Given the description of an element on the screen output the (x, y) to click on. 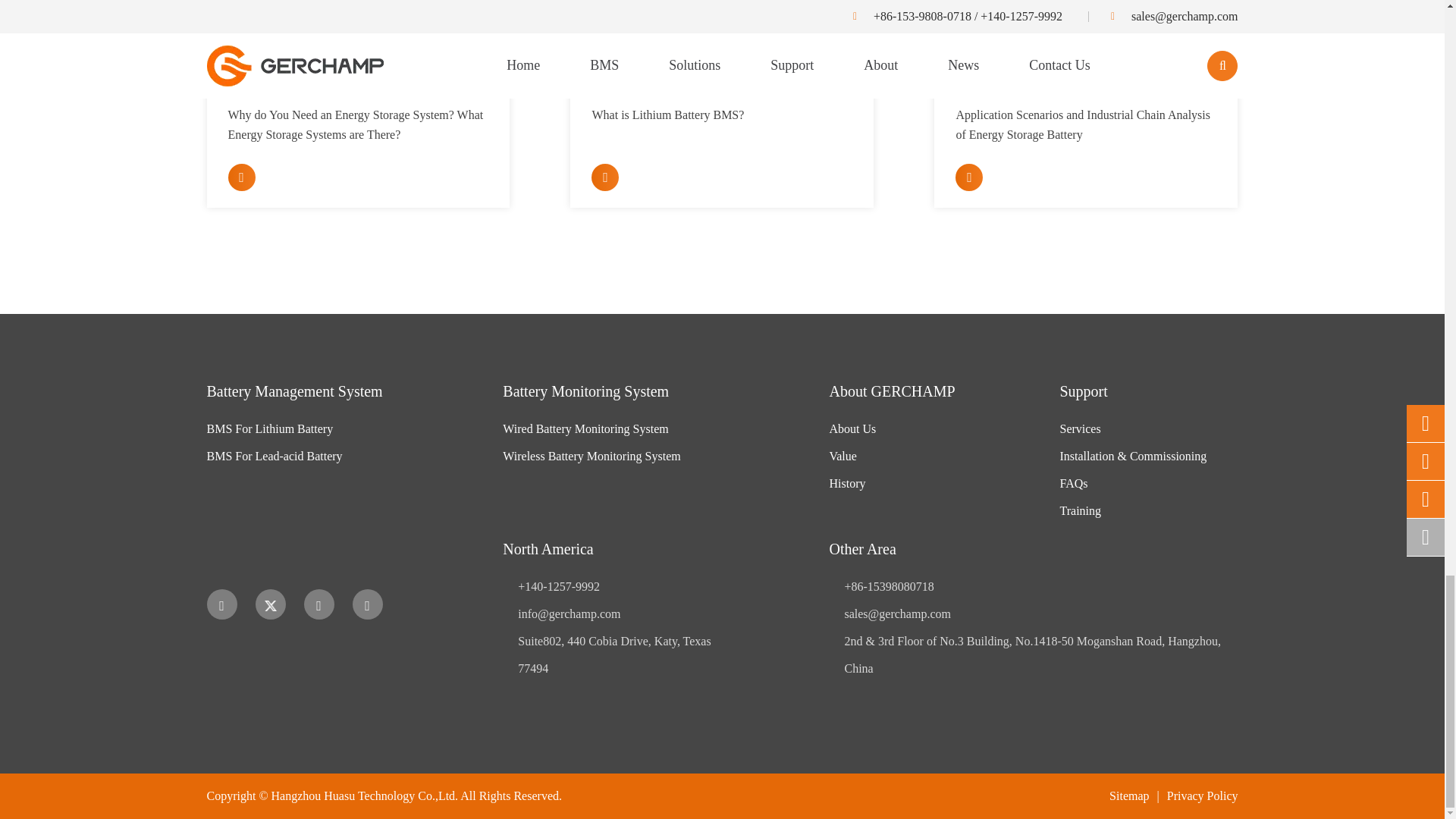
What is Lithium Battery BMS? (721, 39)
